Given the description of an element on the screen output the (x, y) to click on. 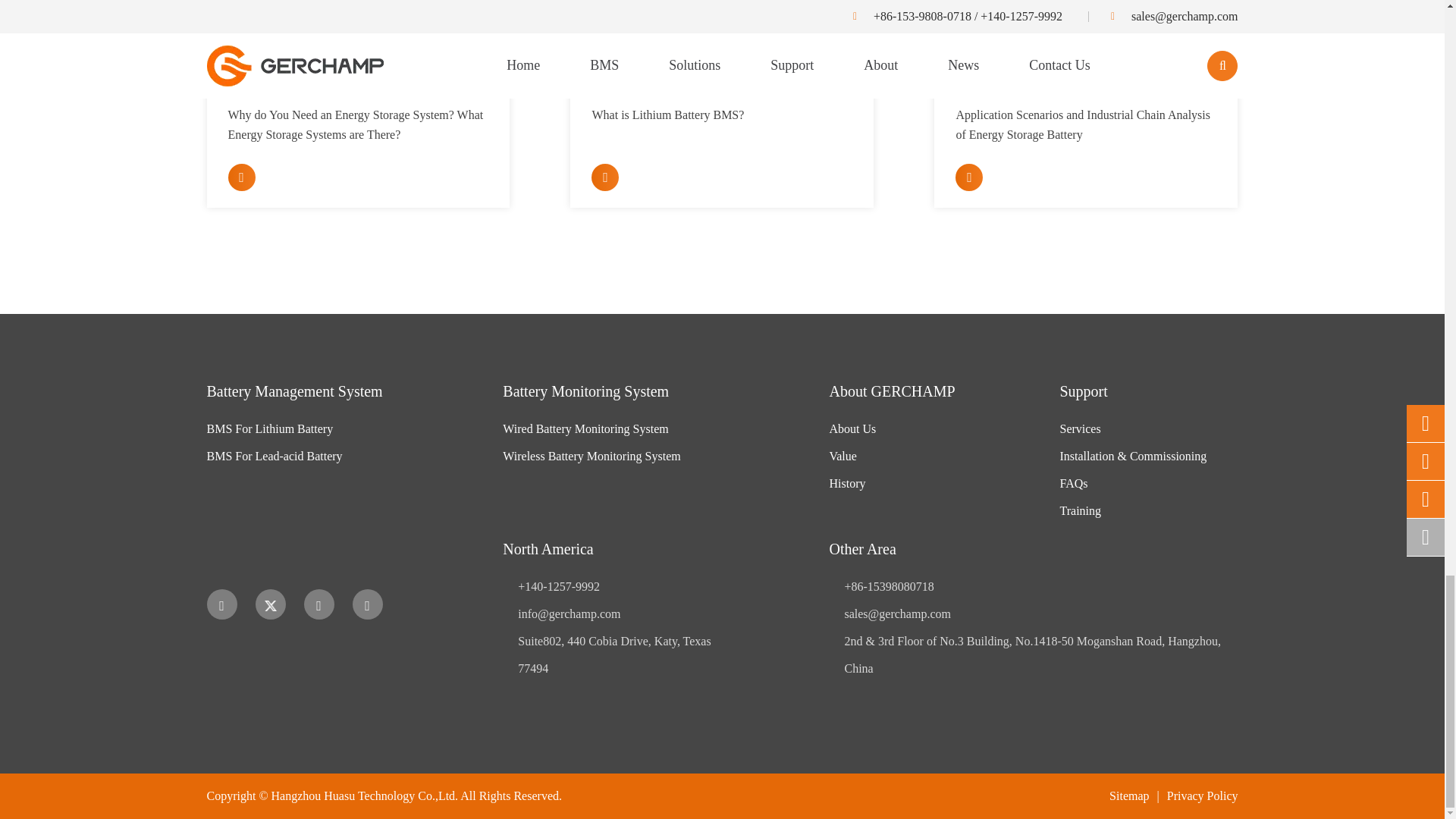
What is Lithium Battery BMS? (721, 39)
